Given the description of an element on the screen output the (x, y) to click on. 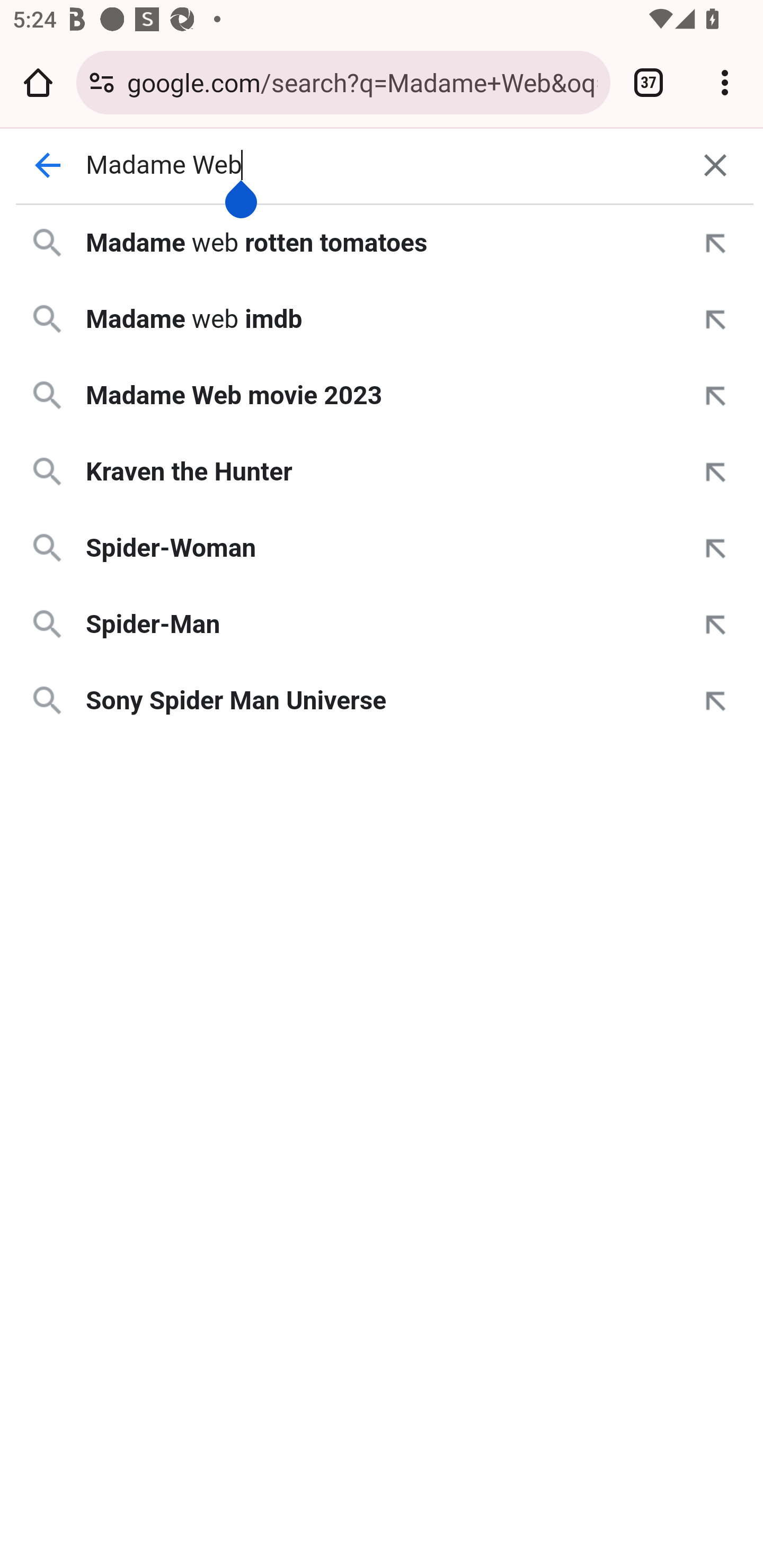
Open the home page (38, 82)
Connection is secure (101, 82)
Switch or close tabs (648, 82)
Customize and control Google Chrome (724, 82)
返回 (47, 165)
清除搜索 (715, 165)
Madame Web (381, 165)
